Given the description of an element on the screen output the (x, y) to click on. 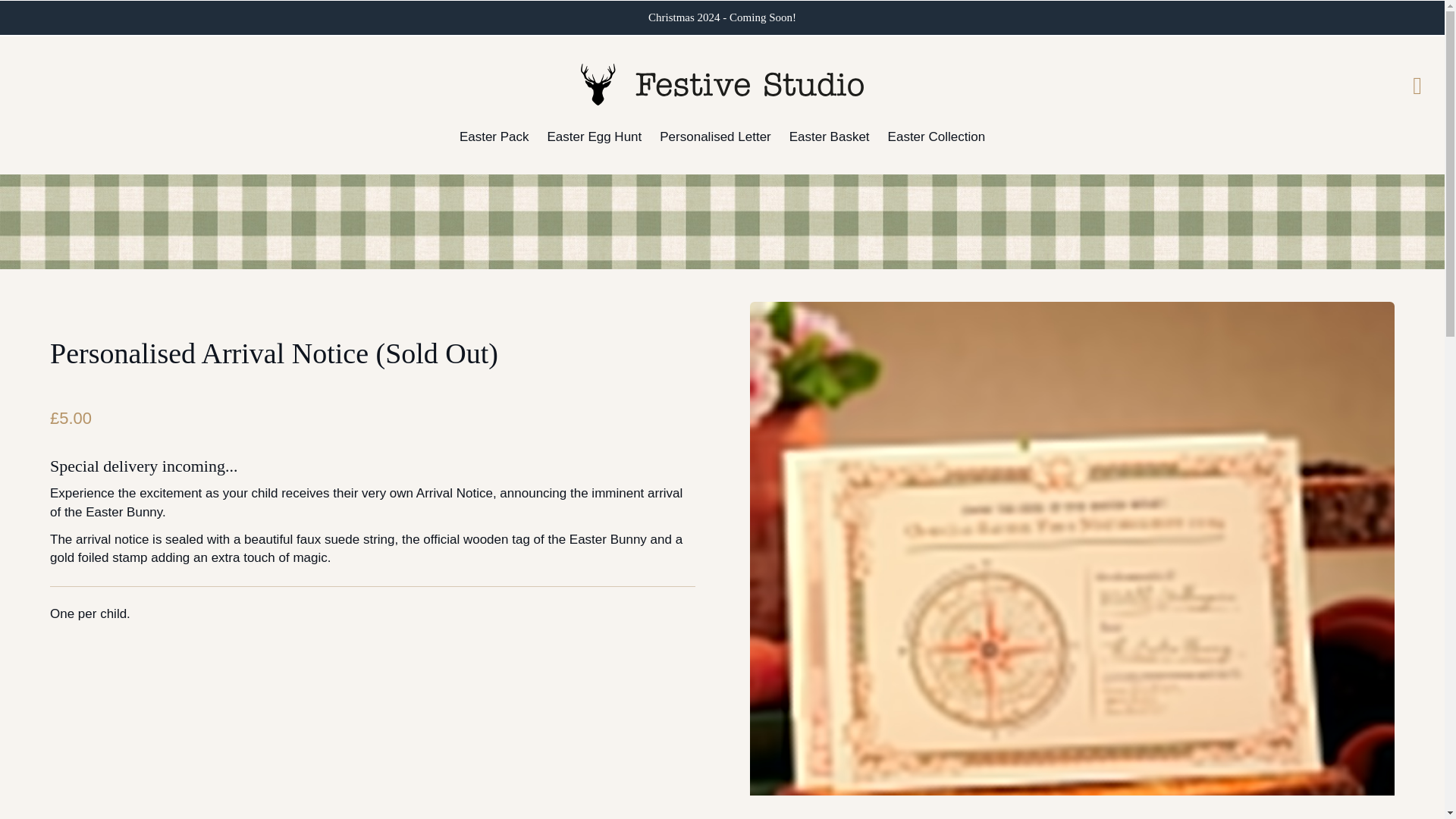
Easter Basket (829, 136)
Easter Collection (936, 136)
Easter Pack (494, 136)
Personalised Letter (714, 136)
Easter Egg Hunt (594, 136)
